Given the description of an element on the screen output the (x, y) to click on. 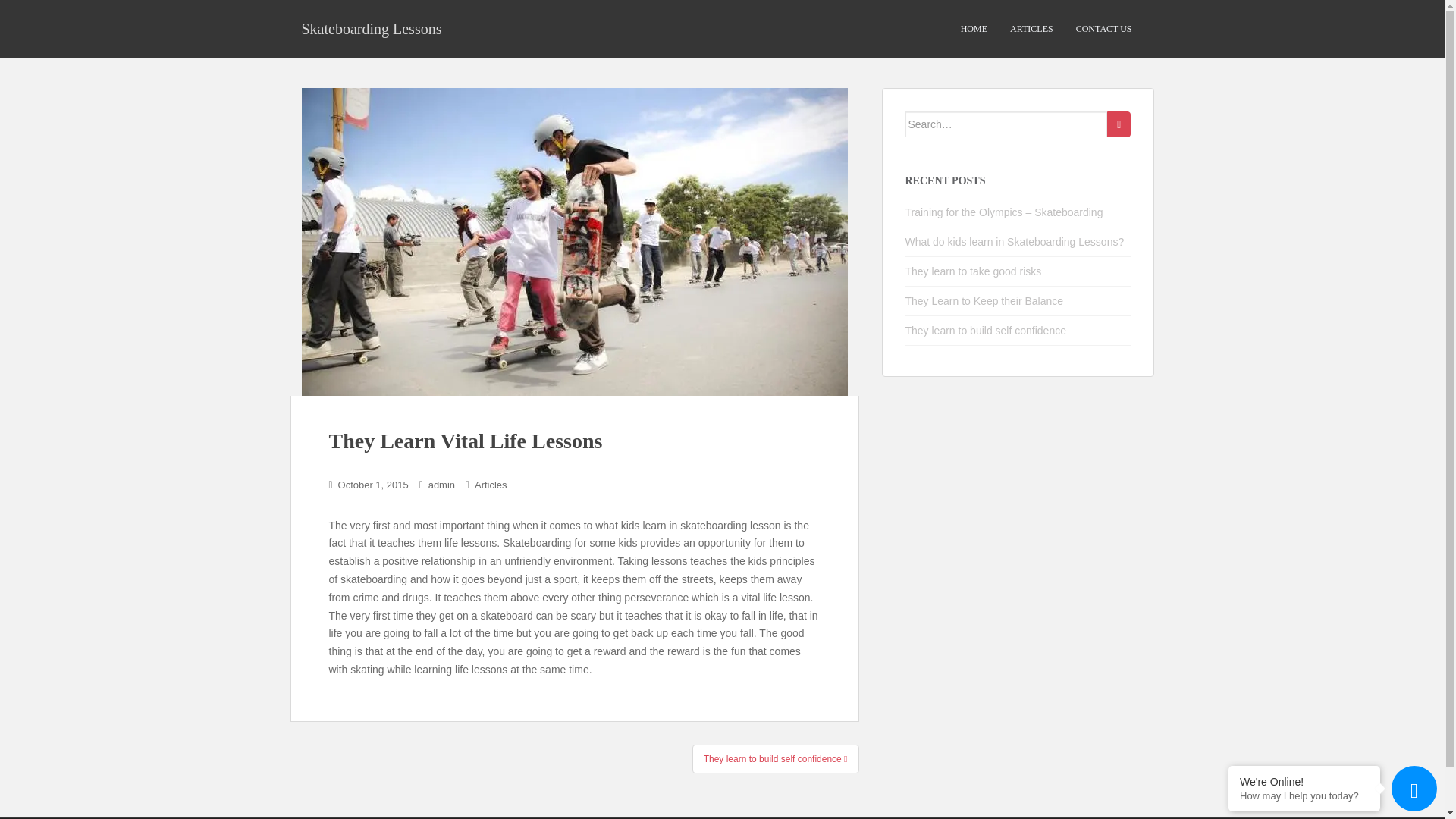
They learn to build self confidence (985, 330)
Skateboarding Lessons (370, 28)
How may I help you today? (1304, 795)
admin (441, 484)
Contact Us (1103, 28)
They Learn to Keep their Balance (984, 300)
Skateboarding Lessons (370, 28)
ARTICLES (1031, 28)
Articles (490, 484)
We're Online! (1305, 781)
